Given the description of an element on the screen output the (x, y) to click on. 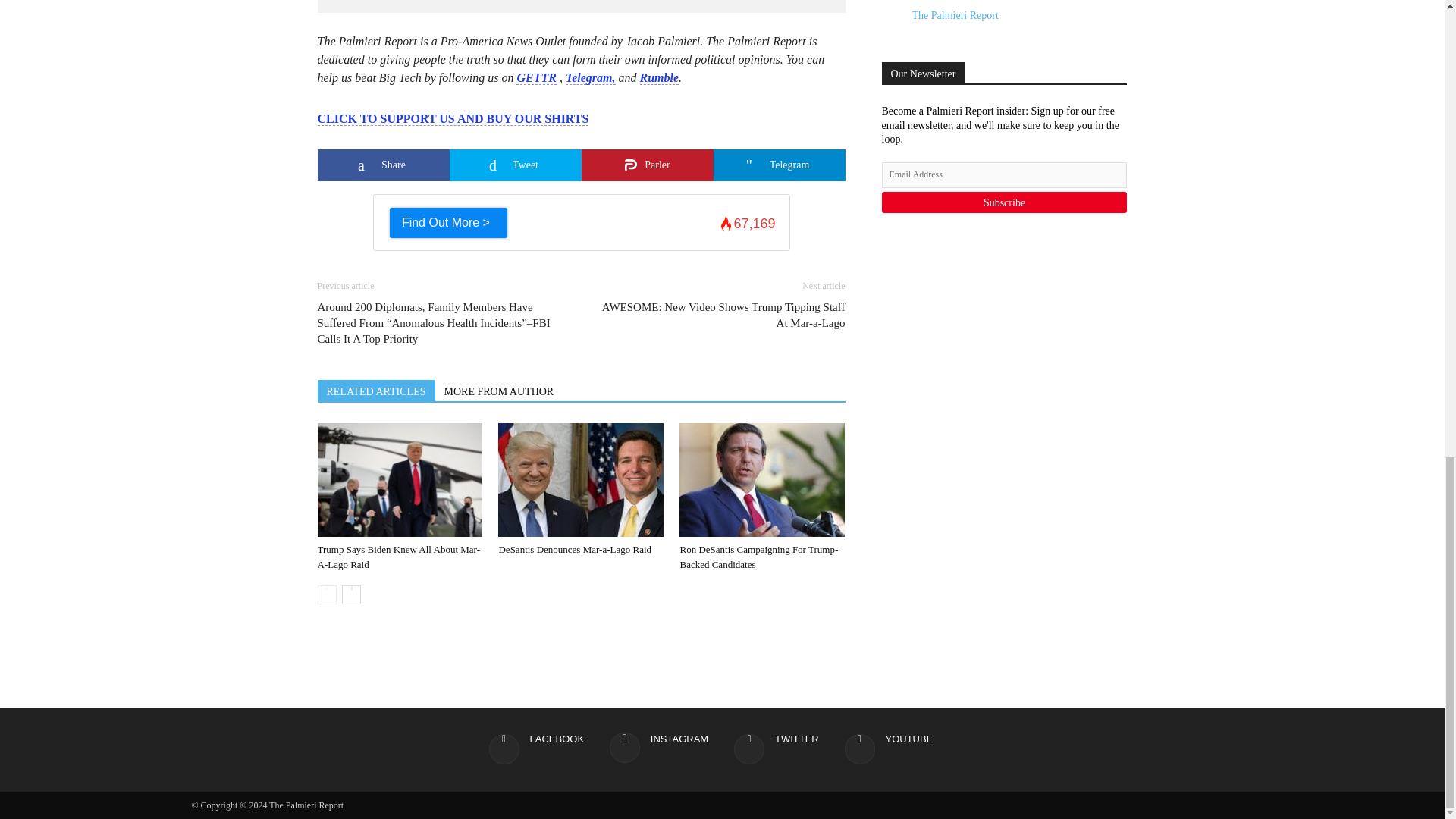
Share on Tweet (514, 164)
Share on Share (382, 164)
Share on Telegram (778, 164)
Trump Says Biden Knew All About Mar-A-Lago Raid (399, 480)
Share on Parler (646, 164)
